Given the description of an element on the screen output the (x, y) to click on. 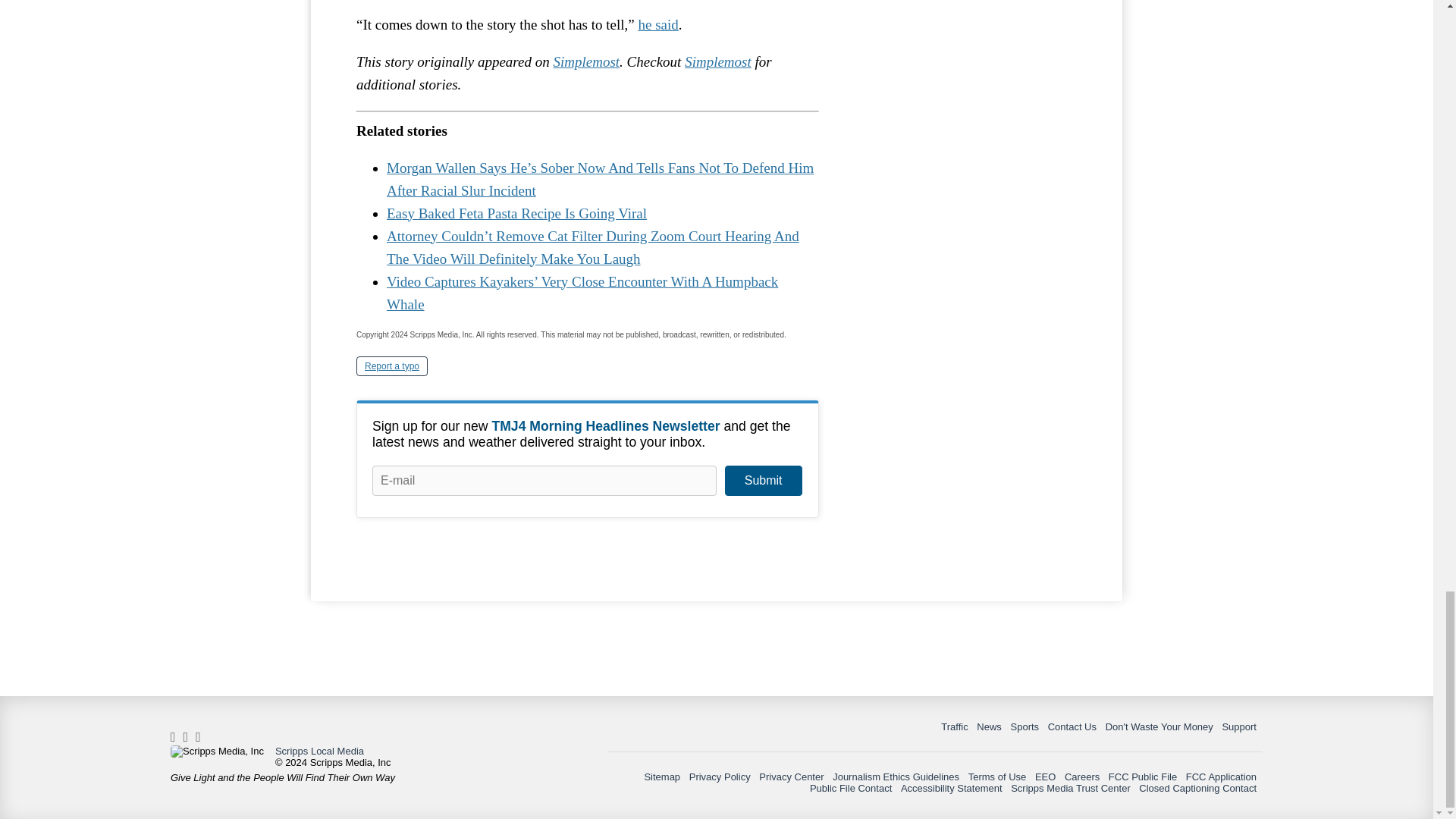
Submit (763, 481)
